Given the description of an element on the screen output the (x, y) to click on. 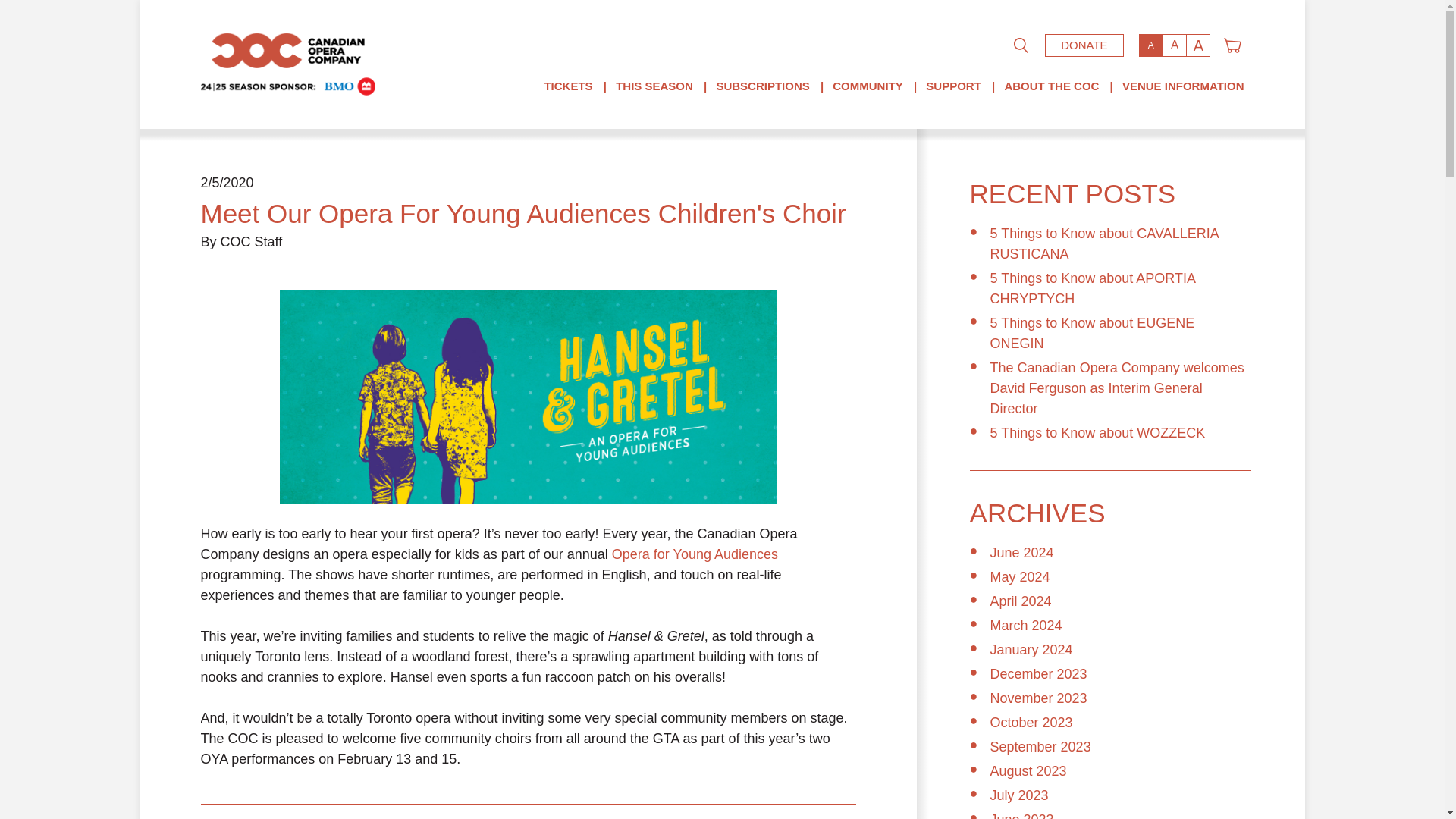
August 2023 (1028, 770)
TICKETS (567, 85)
Default size (1150, 45)
Opera for Young Audiences (694, 554)
January 2024 (1031, 649)
November 2023 (1038, 698)
COMMUNITY (867, 85)
December 2023 (1038, 673)
March 2024 (1026, 625)
October 2023 (1031, 722)
September 2023 (1040, 746)
June 2024 (1022, 552)
SUPPORT (953, 85)
THIS SEASON (654, 85)
April 2024 (1020, 601)
